Given the description of an element on the screen output the (x, y) to click on. 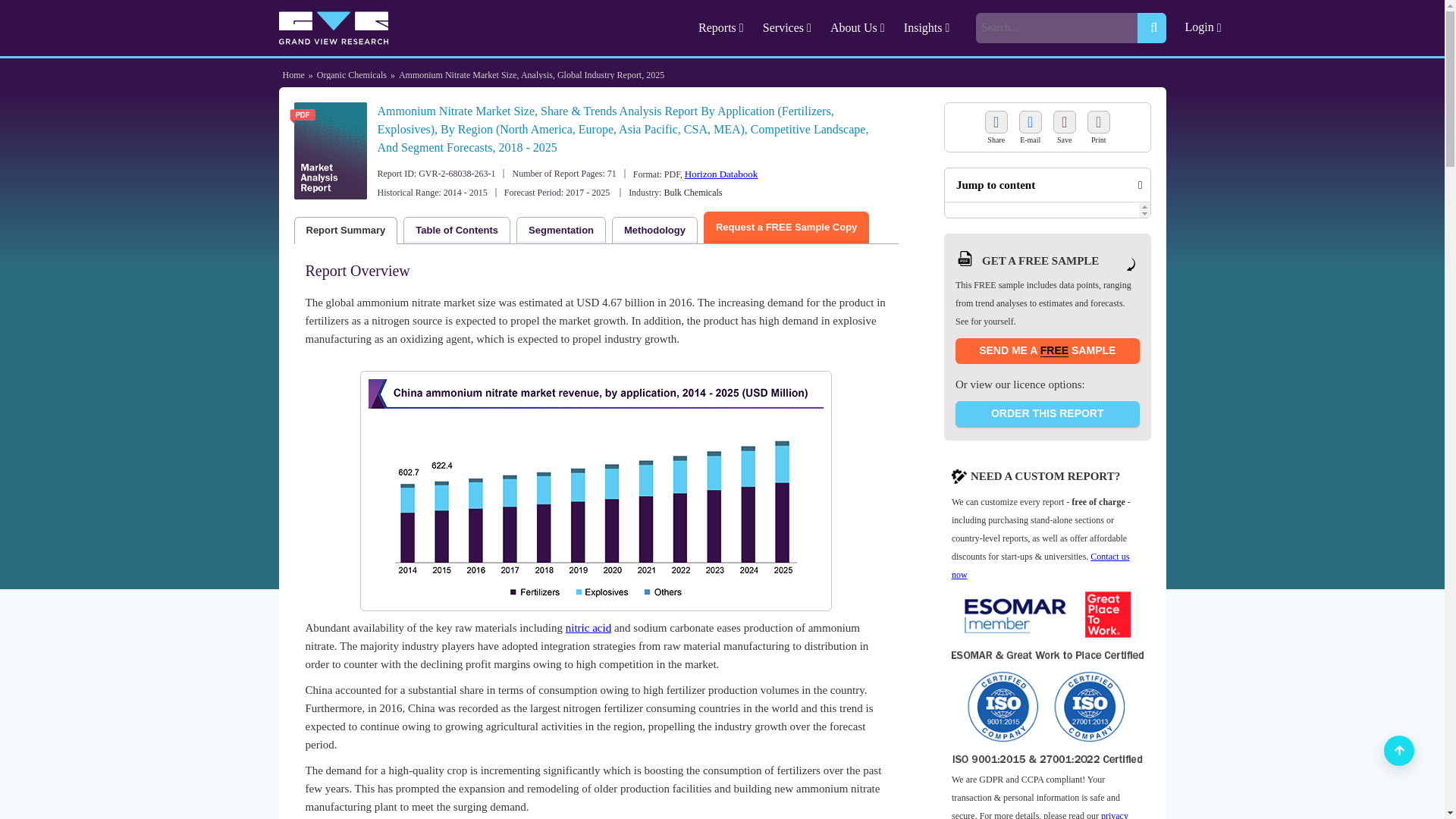
Reports (722, 27)
